Given the description of an element on the screen output the (x, y) to click on. 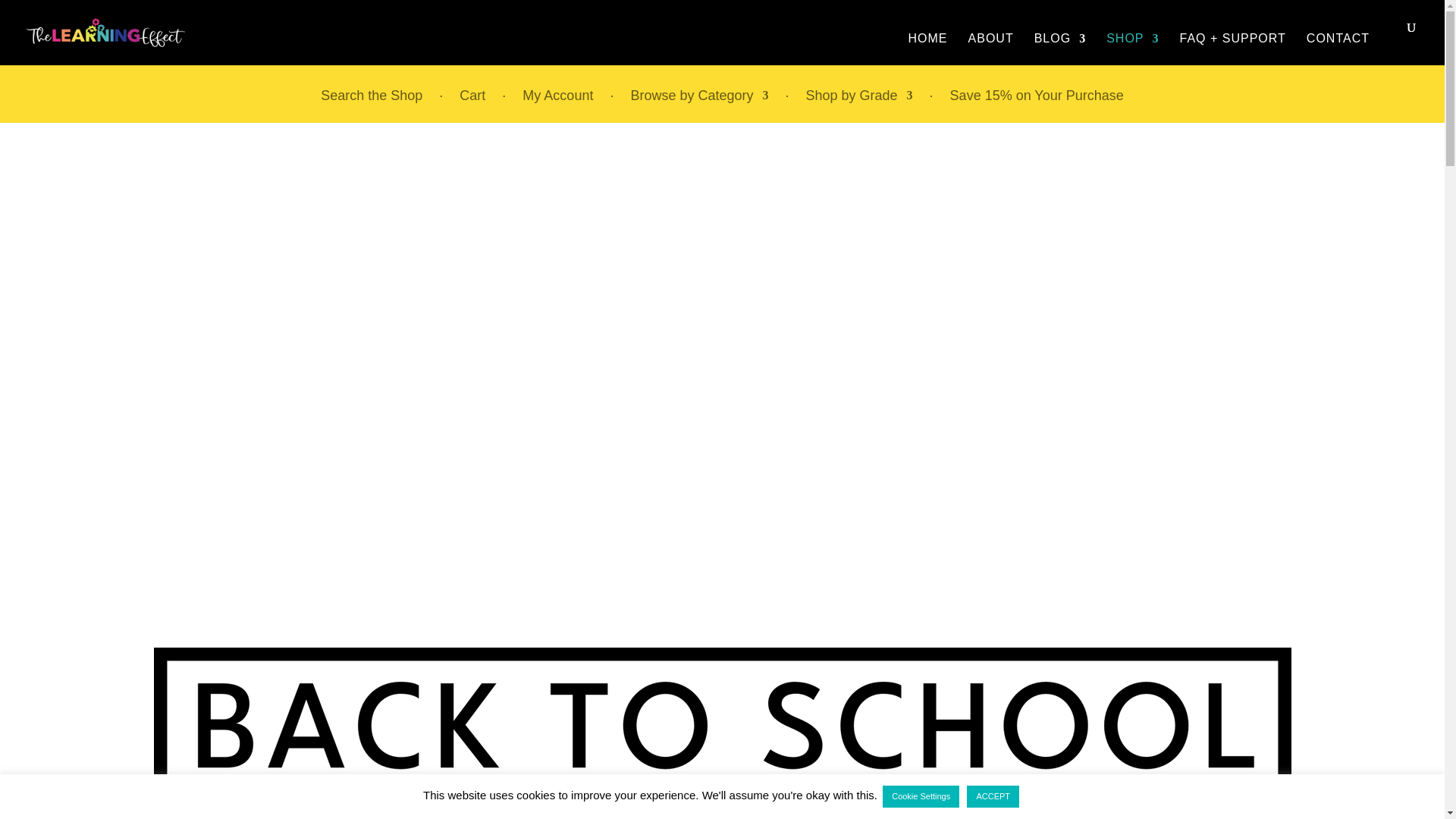
My Account (557, 106)
SHOP (1132, 49)
CONTACT (1338, 49)
Browse by Category (699, 106)
Search the Shop (371, 106)
BLOG (1059, 49)
HOME (927, 49)
ABOUT (990, 49)
